Given the description of an element on the screen output the (x, y) to click on. 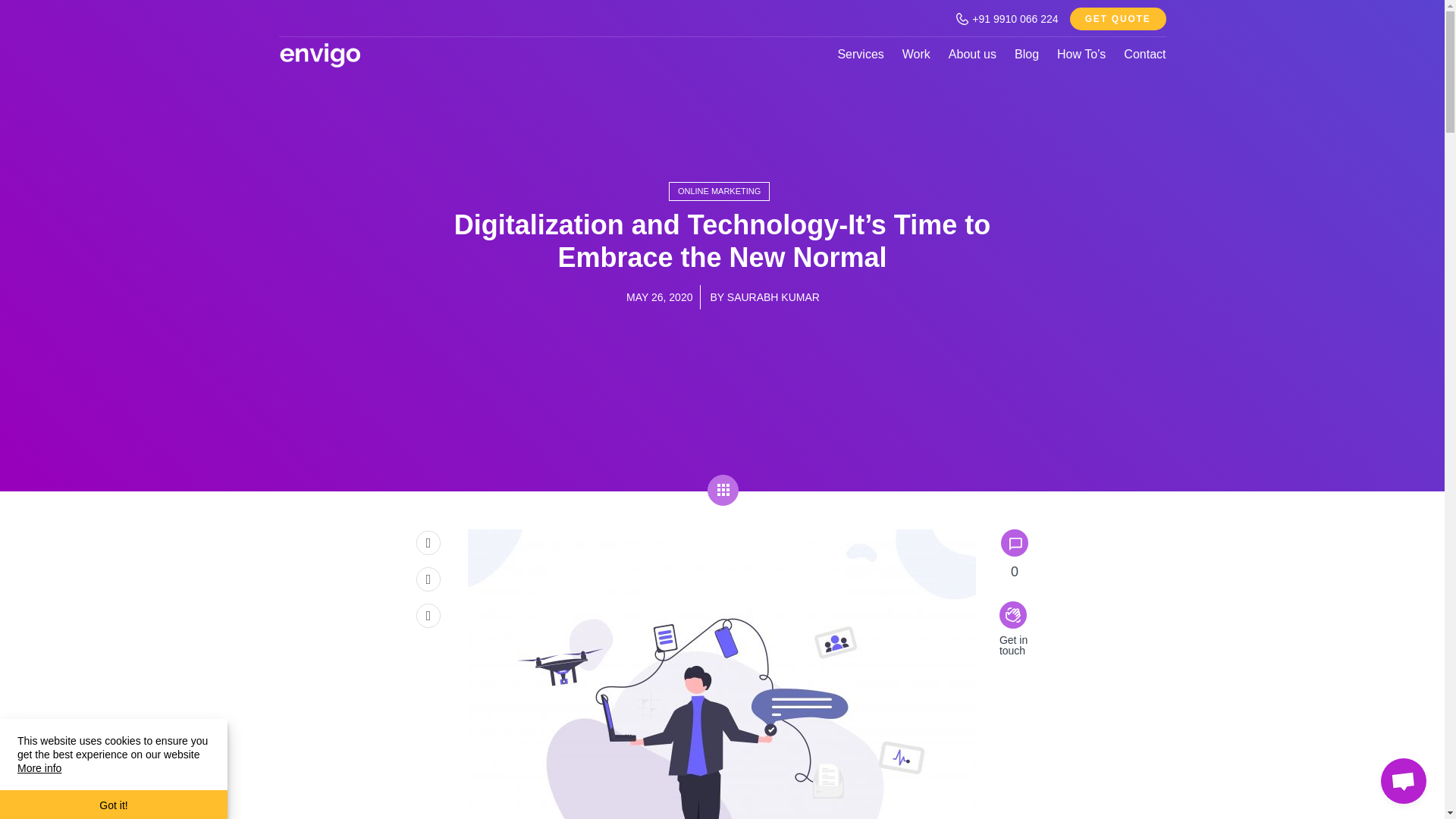
GET QUOTE (1118, 18)
Services (860, 53)
